Given the description of an element on the screen output the (x, y) to click on. 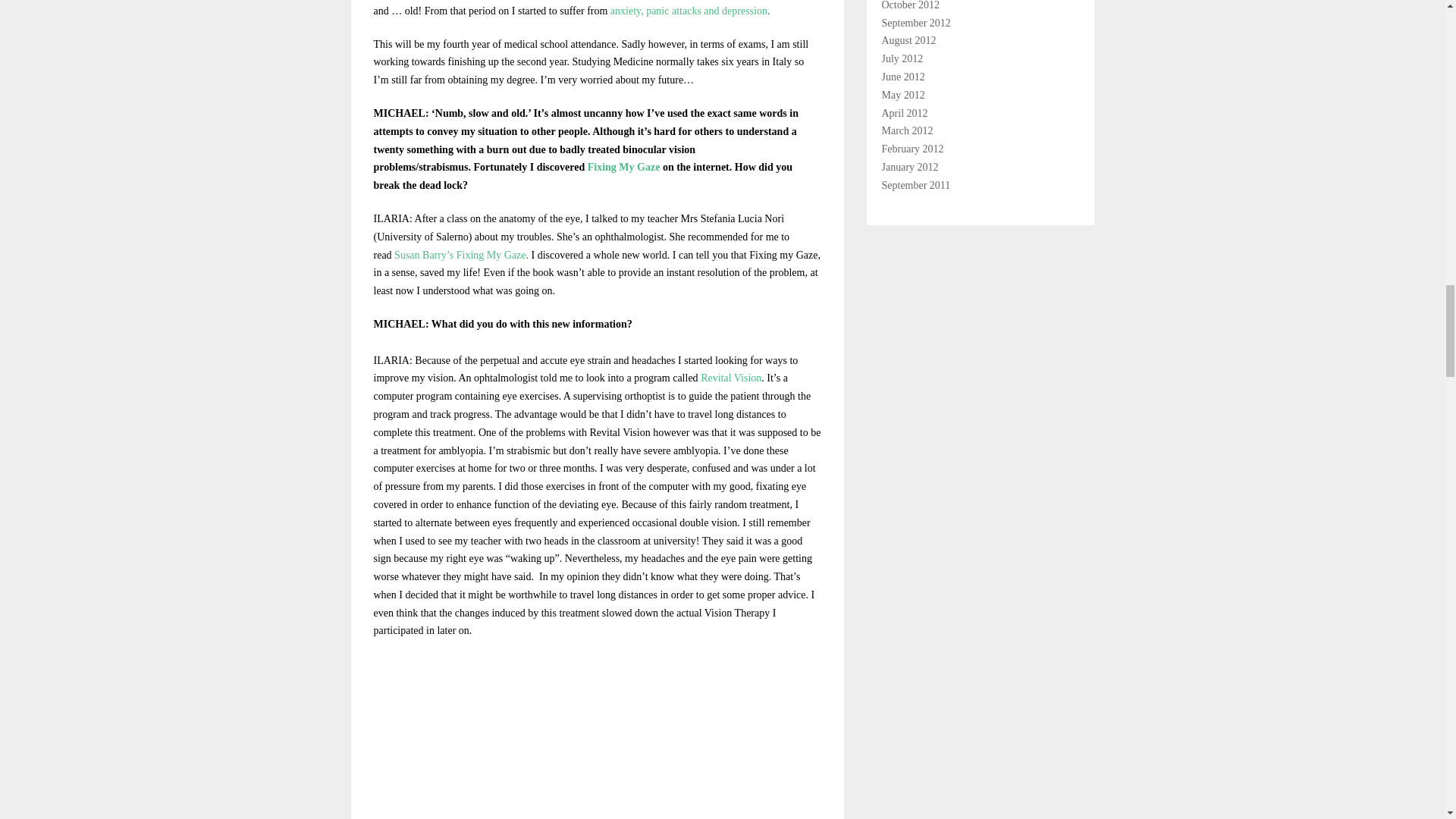
Fixing My Gaze (624, 166)
anxiety, panic attacks and depression (688, 10)
Revital Vision (730, 378)
